Given the description of an element on the screen output the (x, y) to click on. 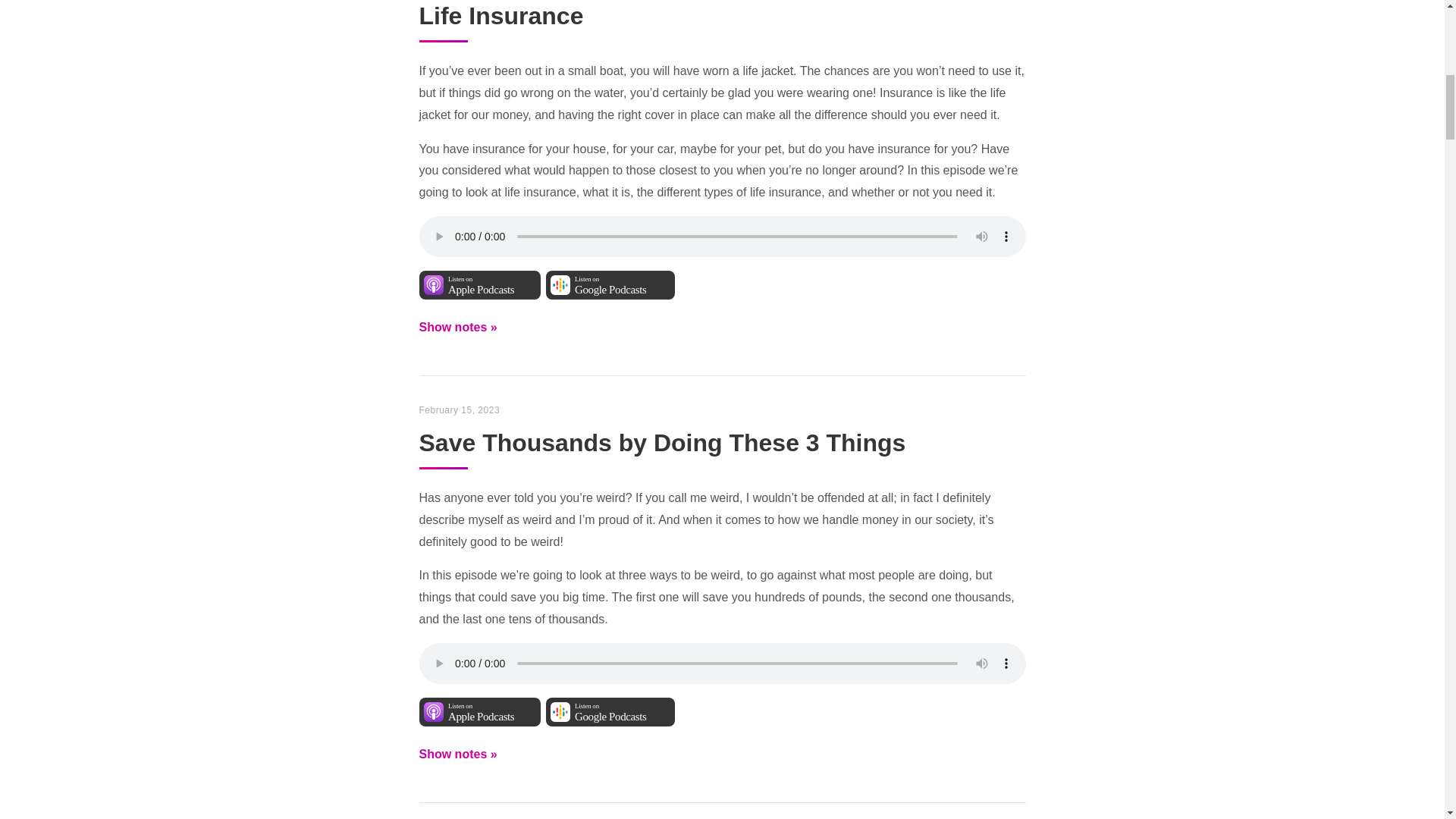
Life Insurance (610, 285)
Save Thousands by Doing These 3 Things (610, 714)
